Given the description of an element on the screen output the (x, y) to click on. 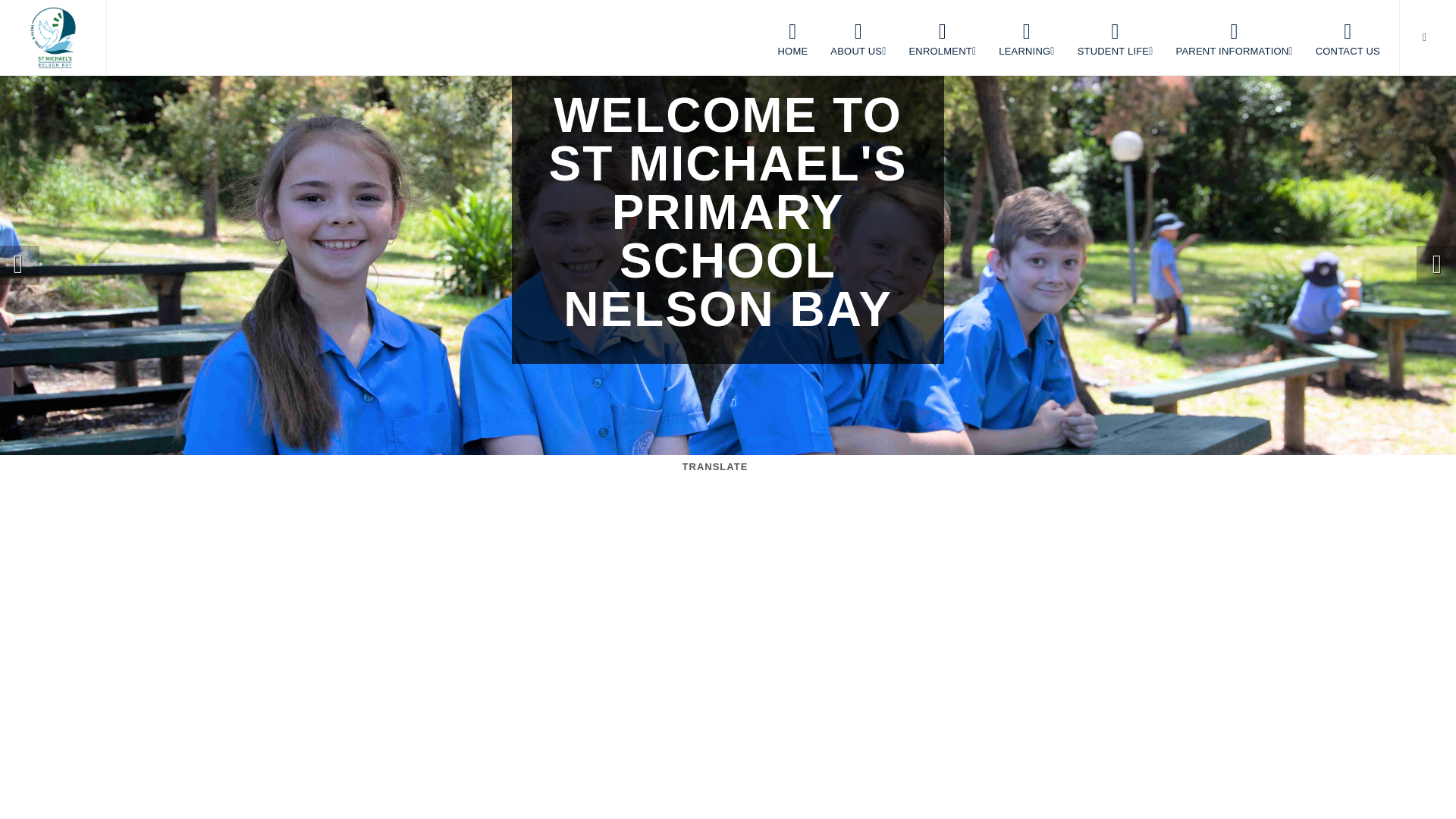
Enrolment (942, 38)
LEARNING (1026, 38)
About Us (857, 38)
ENROLMENT (942, 38)
STUDENT LIFE (1115, 38)
ABOUT US (857, 38)
